Given the description of an element on the screen output the (x, y) to click on. 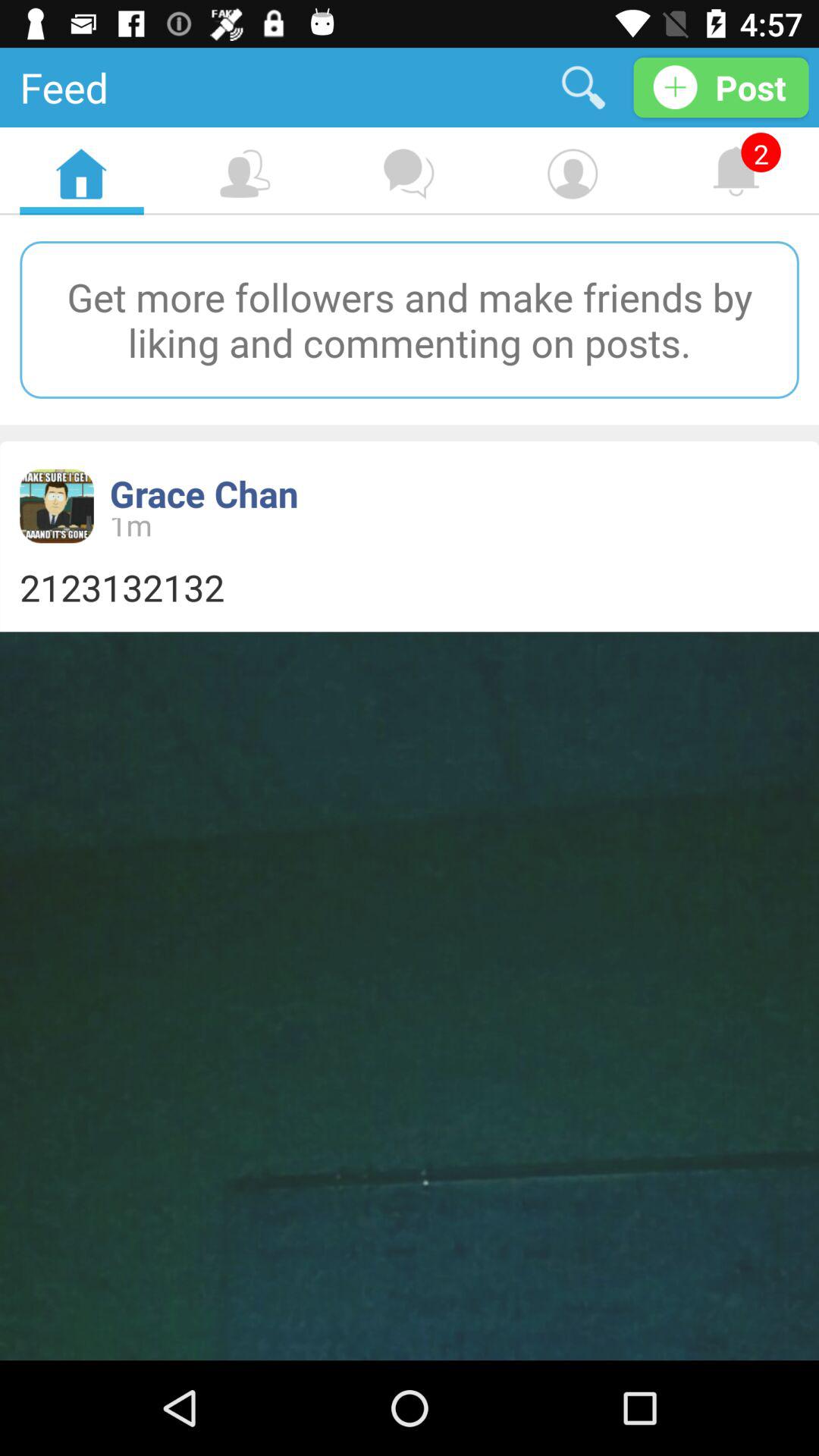
click the item at the center (409, 587)
